Given the description of an element on the screen output the (x, y) to click on. 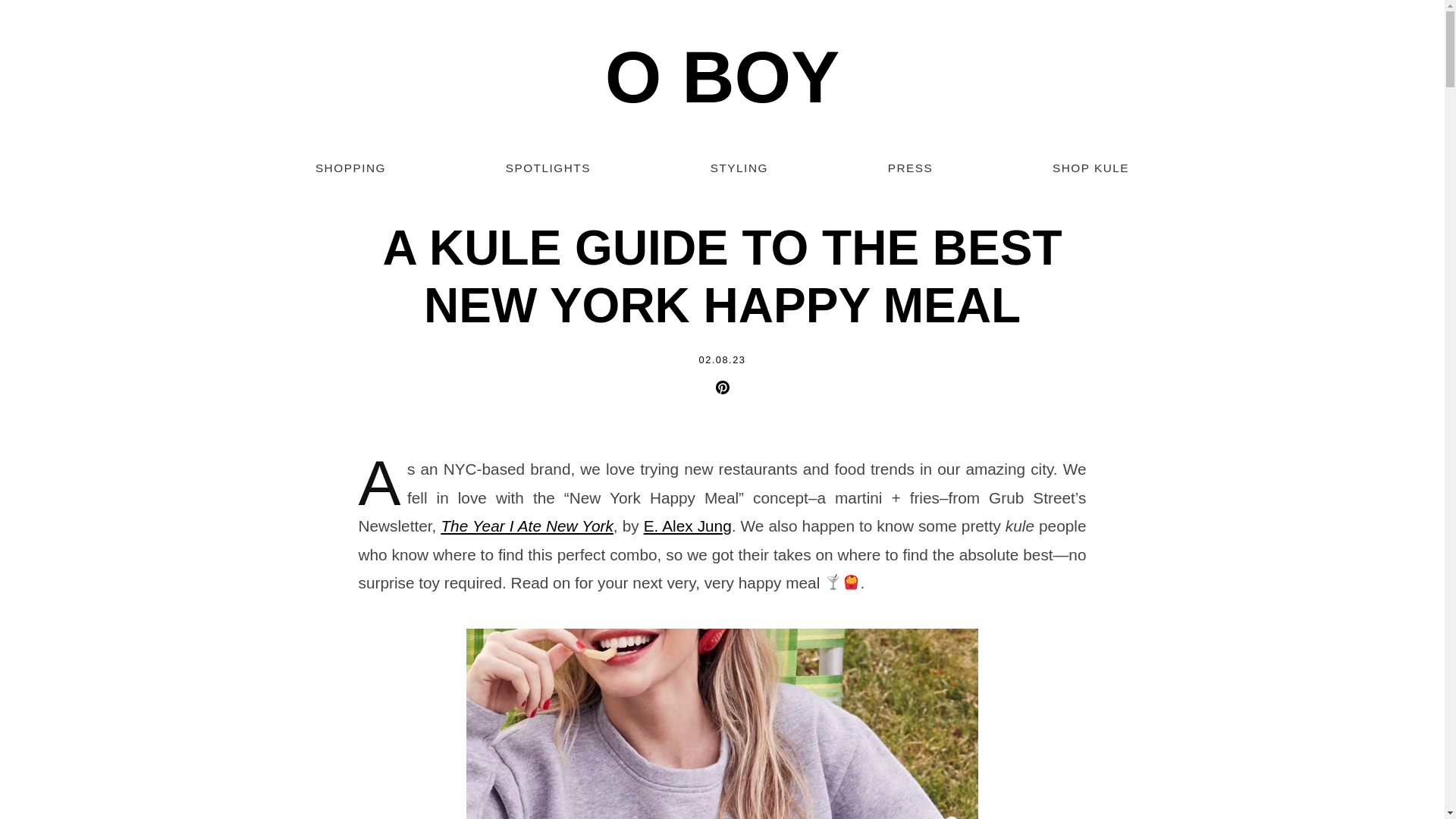
STYLING (739, 168)
SHOP KULE (1090, 168)
PRESS (910, 168)
The Year I Ate New York (526, 525)
SPOTLIGHTS (548, 168)
Pinterest (721, 390)
O BOY (722, 76)
E. Alex Jung (687, 525)
SHOPPING (350, 168)
PINTEREST (721, 390)
